Given the description of an element on the screen output the (x, y) to click on. 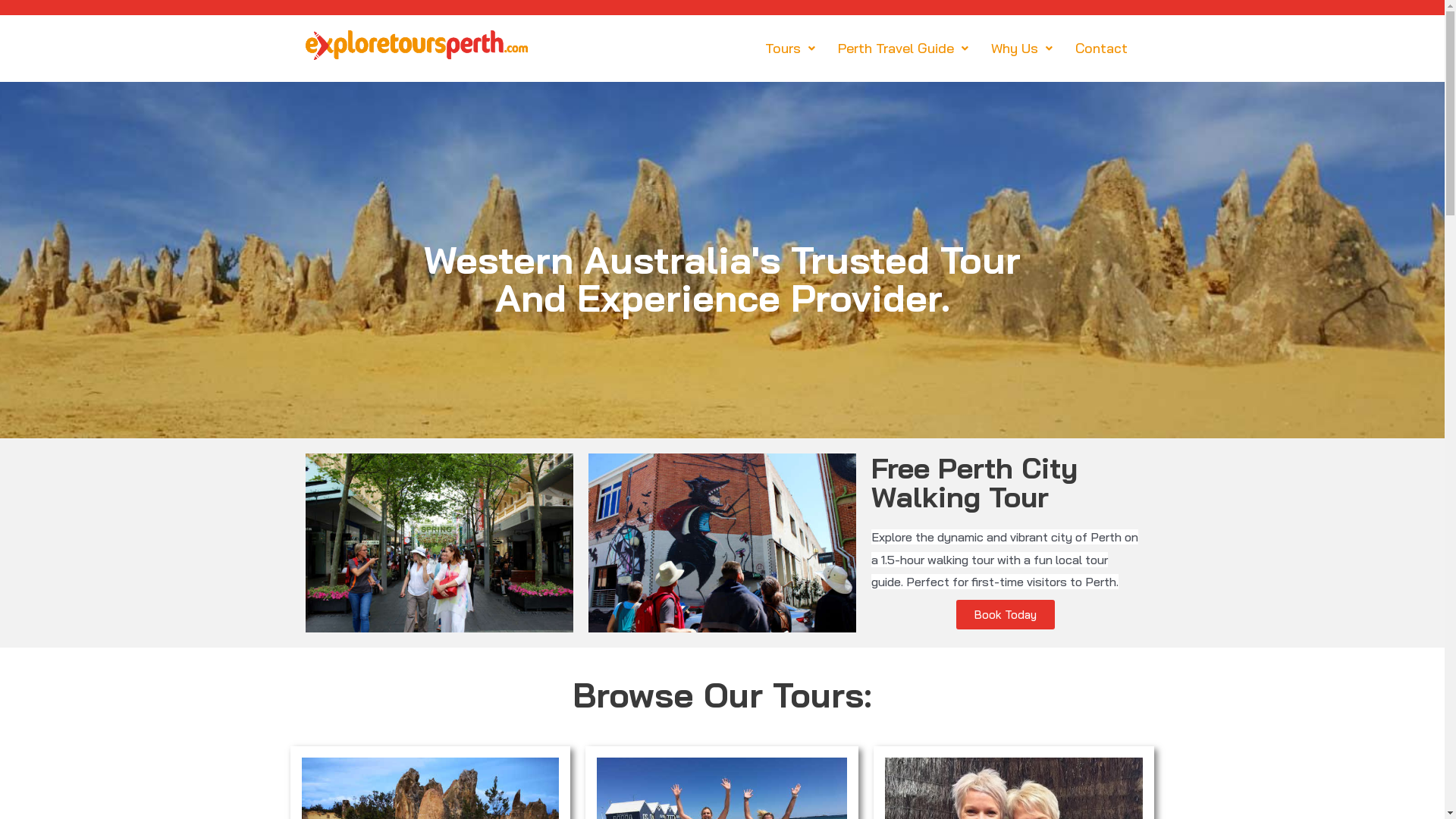
Perth Travel Guide Element type: text (902, 48)
Book Today Element type: text (1005, 614)
Why Us Element type: text (1021, 48)
Tours Element type: text (789, 48)
Contact Element type: text (1101, 48)
